Given the description of an element on the screen output the (x, y) to click on. 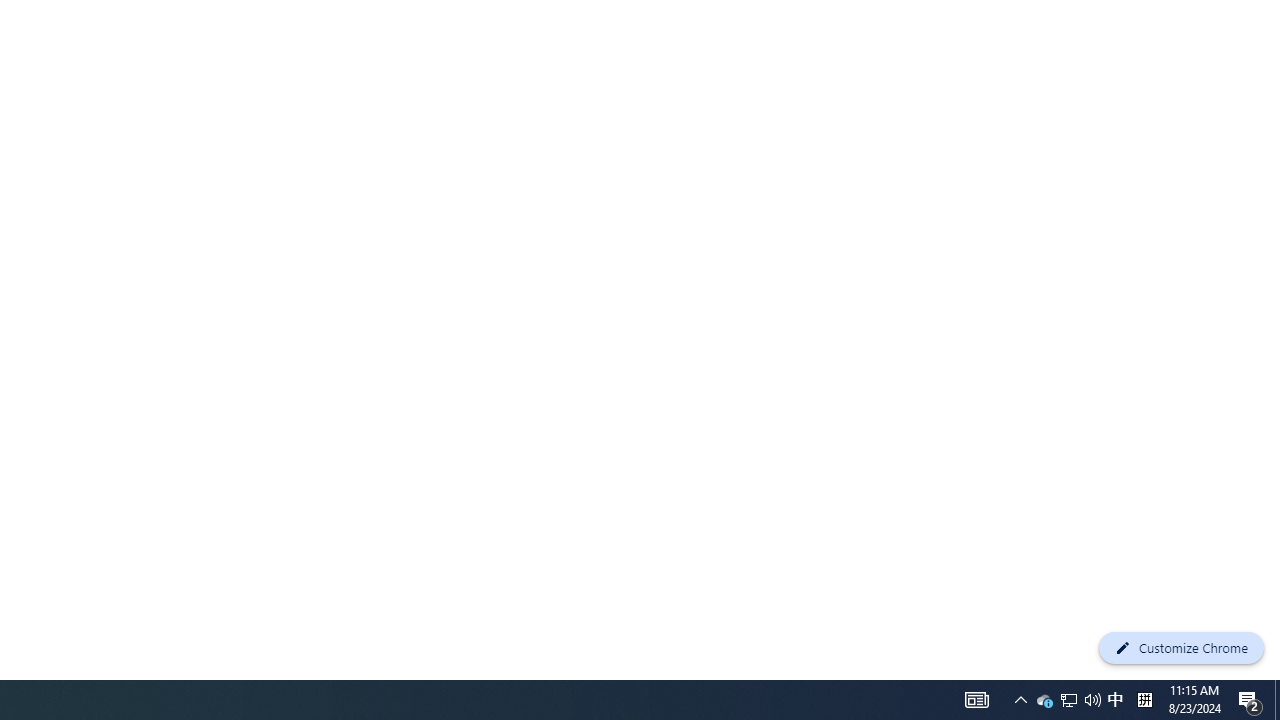
AutomationID: 4105 (1044, 699)
Notification Chevron (976, 699)
Q2790: 100% (1020, 699)
Action Center, 2 new notifications (1092, 699)
Show desktop (1250, 699)
Tray Input Indicator - Chinese (Simplified, China) (1069, 699)
User Promoted Notification Area (1277, 699)
